Given the description of an element on the screen output the (x, y) to click on. 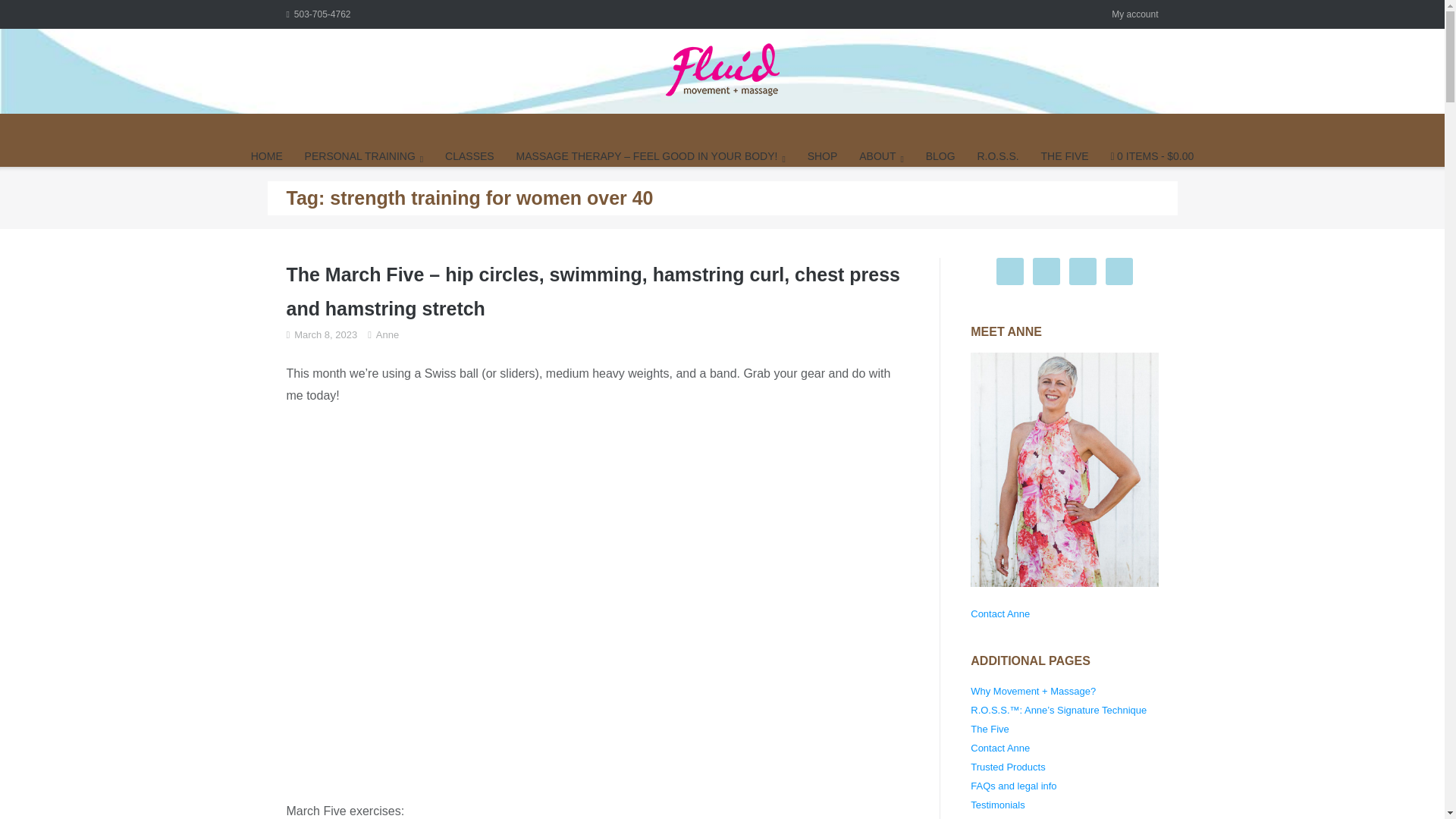
My account (1134, 14)
March 8, 2023 (325, 334)
Start shopping (1151, 156)
Anne (386, 334)
HOME (266, 156)
ABOUT (881, 156)
R.O.S.S. (996, 156)
PERSONAL TRAINING (363, 156)
SHOP (823, 156)
THE FIVE (1065, 156)
CLASSES (470, 156)
BLOG (940, 156)
503-705-4762 (317, 14)
